Given the description of an element on the screen output the (x, y) to click on. 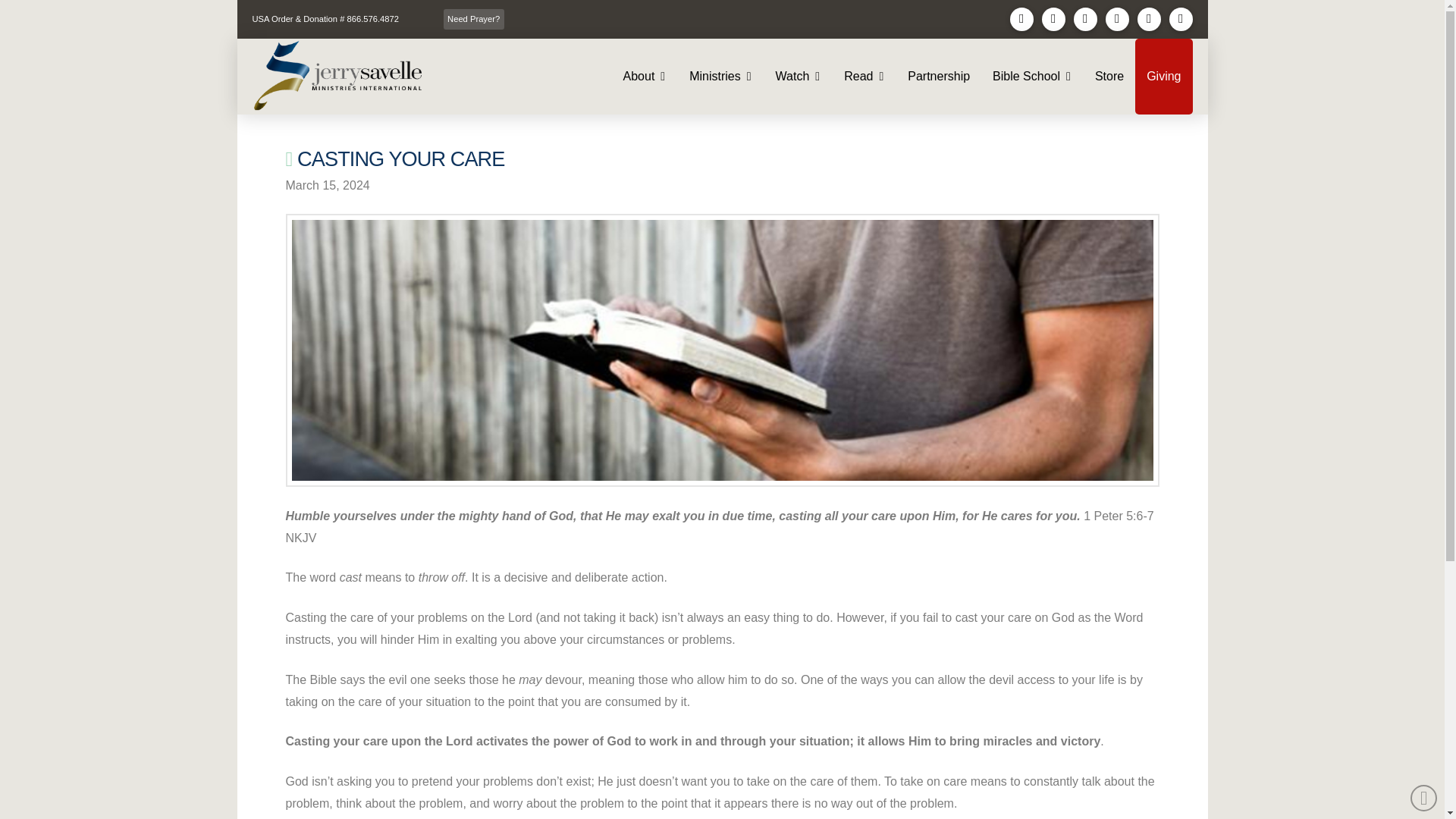
Watch (798, 76)
Ministries (720, 76)
Partnership (938, 76)
Need Prayer? (472, 18)
Back to Top (1423, 797)
Bible School (1032, 76)
